Given the description of an element on the screen output the (x, y) to click on. 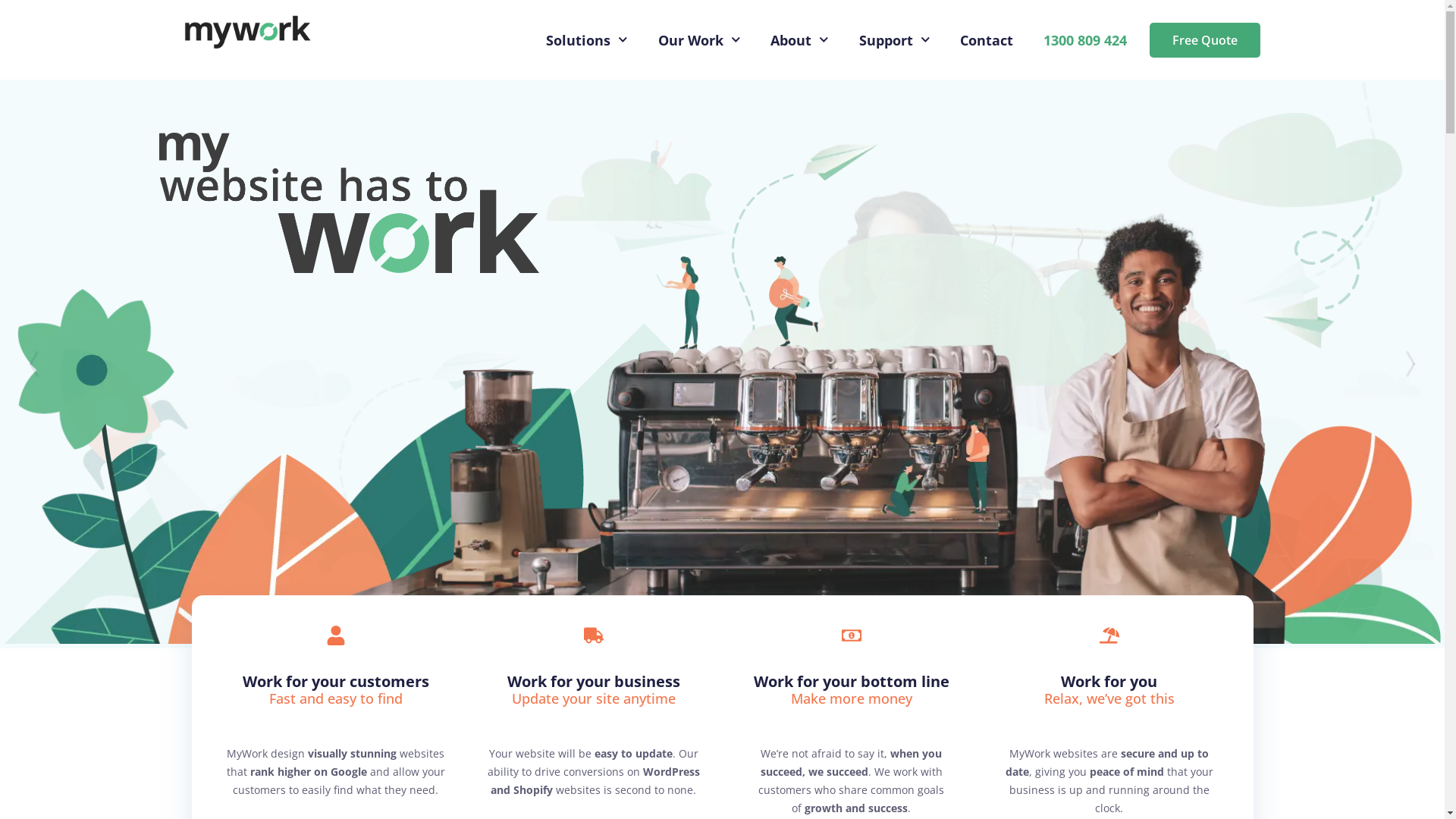
Contact Element type: text (986, 39)
1300 809 424 Element type: text (1084, 39)
Free Quote Element type: text (1204, 39)
Support Element type: text (894, 39)
Solutions Element type: text (586, 39)
Our Work Element type: text (699, 39)
About Element type: text (799, 39)
